Given the description of an element on the screen output the (x, y) to click on. 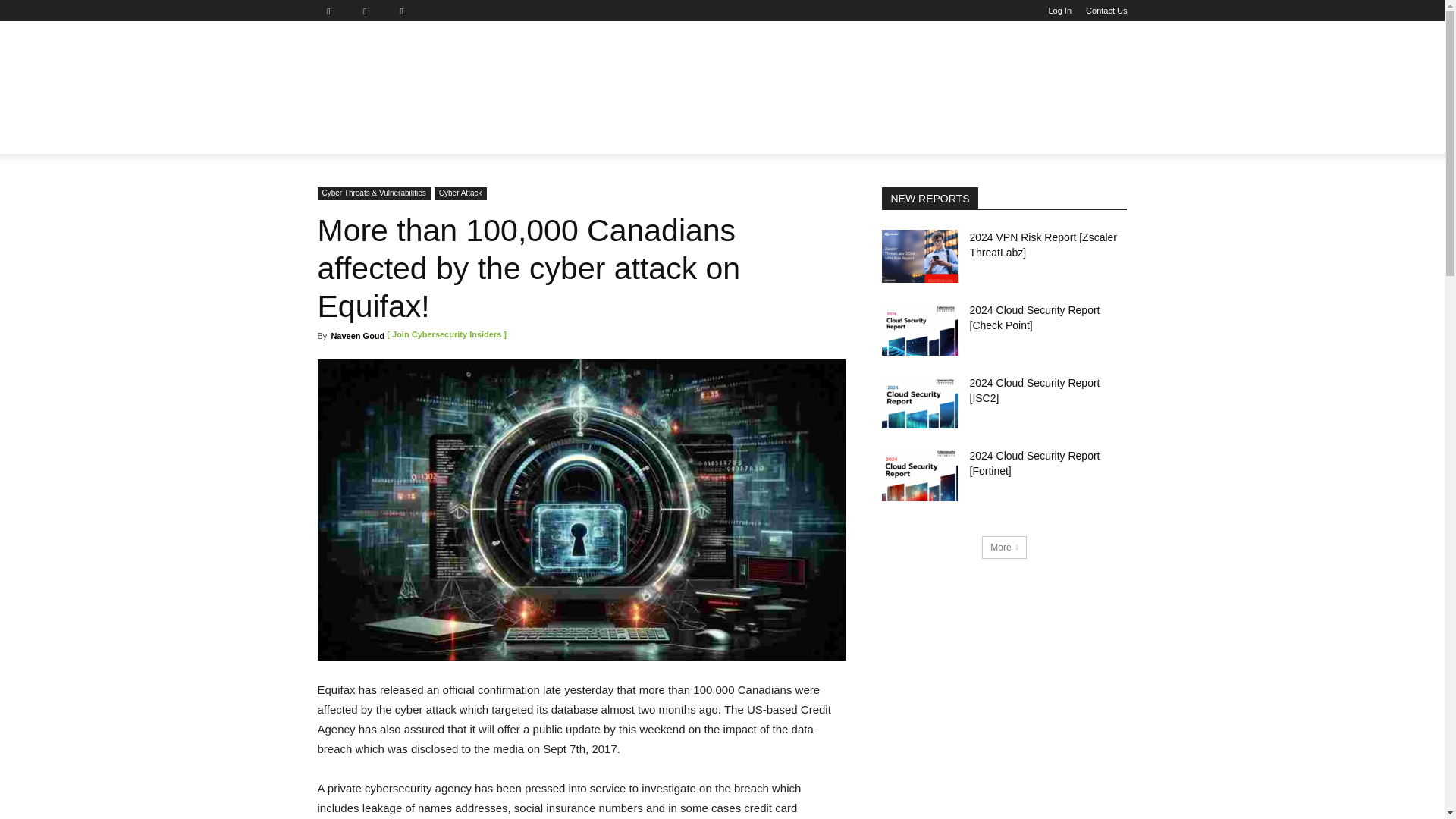
Facebook (333, 10)
News (343, 135)
Contact Us (1106, 10)
NEWS (343, 135)
Log In (1059, 10)
Linkedin (370, 10)
Twitter (407, 10)
Advertisement (829, 76)
